Given the description of an element on the screen output the (x, y) to click on. 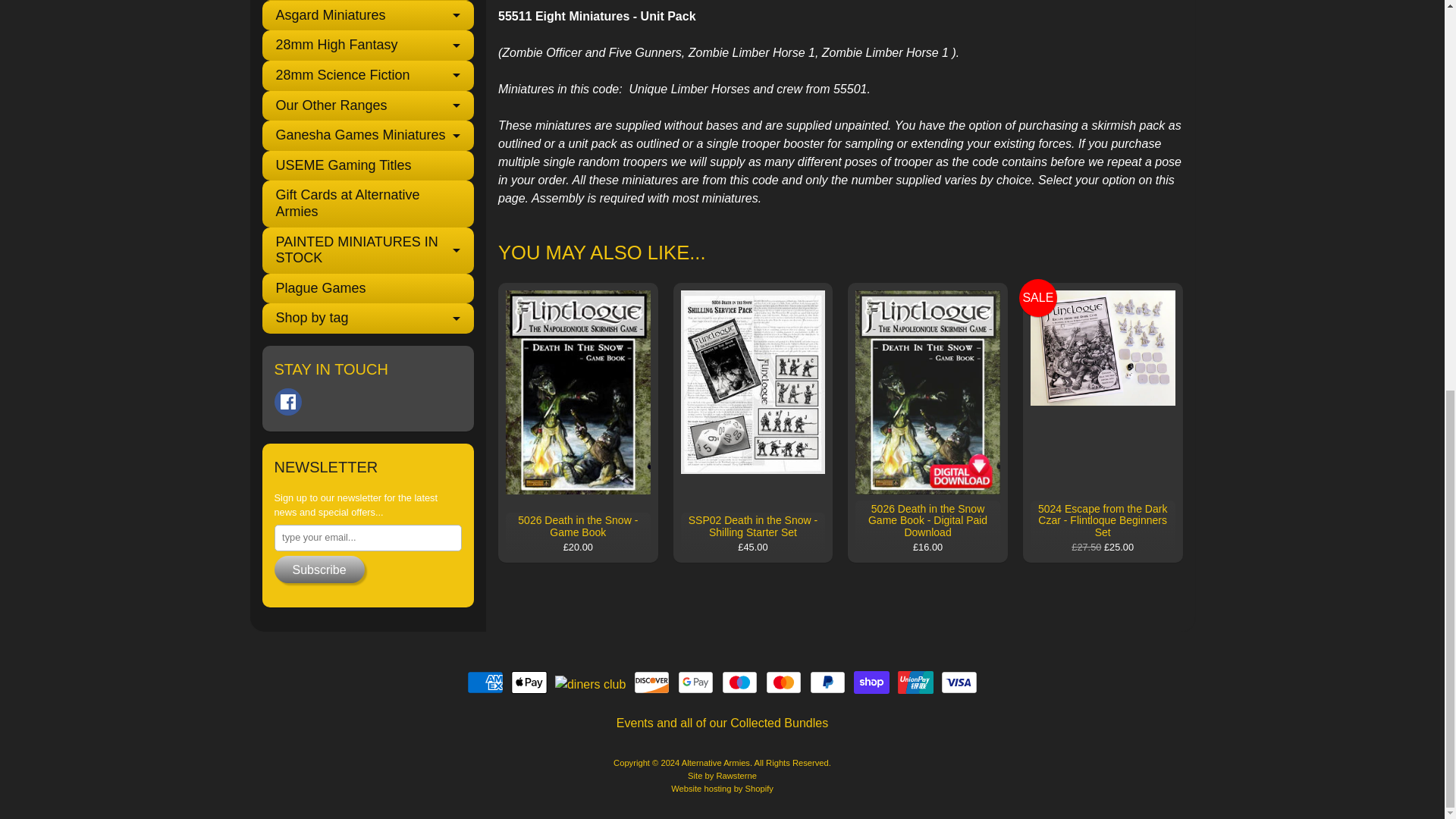
Facebook (288, 401)
5024 Escape from the Dark Czar - Flintloque Beginners Set (1102, 422)
Shopify theme by Rawsterne (722, 775)
5026 Death in the Snow Game Book - Digital Paid Download (927, 422)
5026 Death in the Snow - Game Book (577, 422)
SSP02 Death in the Snow - Shilling Starter Set (752, 422)
